Given the description of an element on the screen output the (x, y) to click on. 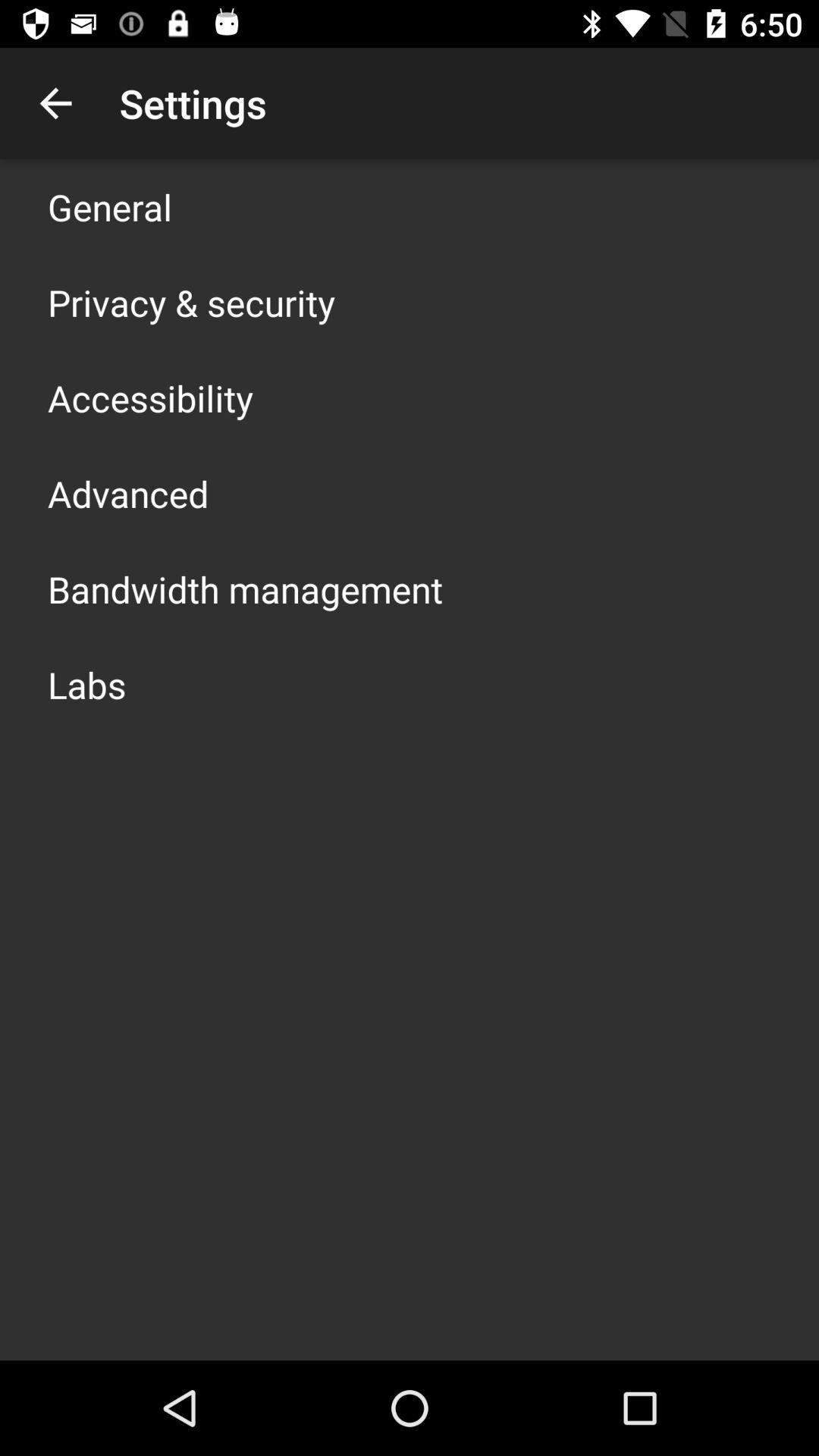
click the item above general item (55, 103)
